Given the description of an element on the screen output the (x, y) to click on. 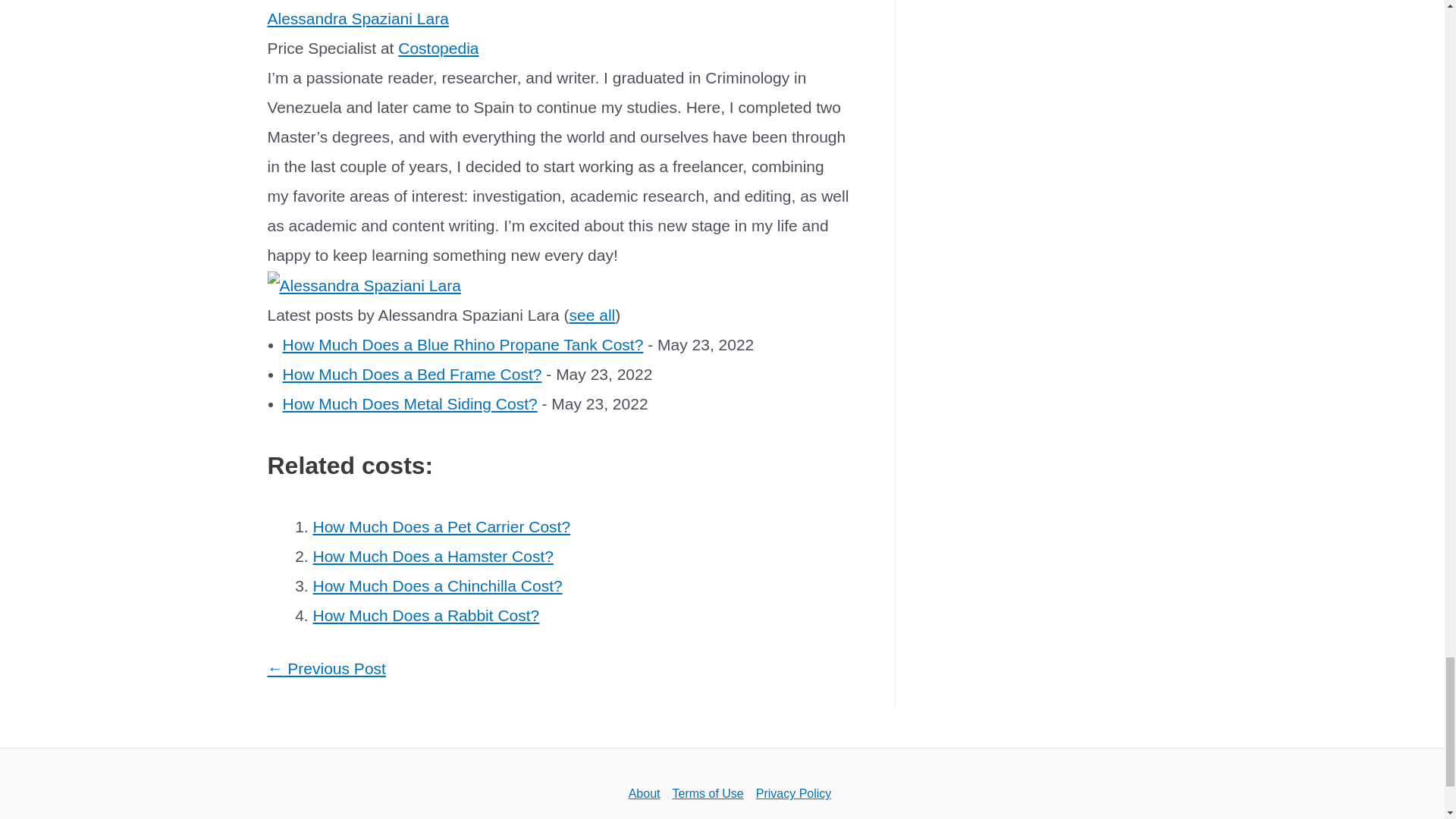
Alessandra Spaziani Lara (357, 18)
How Much Does a Hamster Cost? (433, 556)
see all (592, 314)
How Much Does a Pet Carrier Cost? (441, 526)
Costopedia (438, 47)
How Much Does a Chinchilla Cost? (437, 585)
How Much Does a Rabbit Cost? (425, 615)
How Much Does a Blue Rhino Propane Tank Cost? (462, 343)
How Much Does a Bed Frame Cost? (411, 374)
How Much Does a Pet Carrier Cost? (441, 526)
Alessandra Spaziani Lara (363, 284)
How Much Does a Chinchilla Cost? (437, 585)
How Much Does Metal Siding Cost? (409, 403)
How Much Does a Hamster Cost? (433, 556)
